Given the description of an element on the screen output the (x, y) to click on. 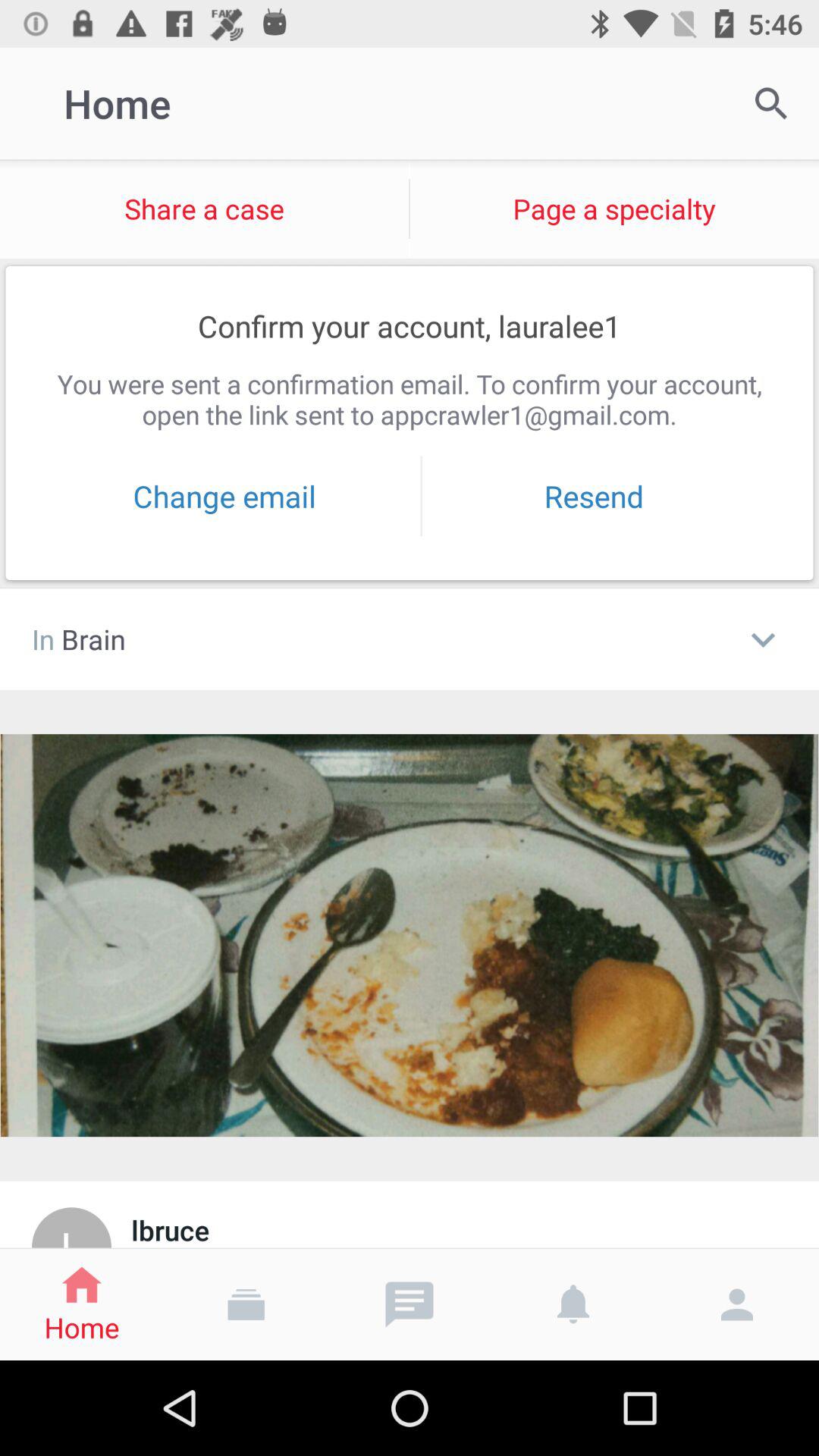
open the share a case icon (204, 208)
